Given the description of an element on the screen output the (x, y) to click on. 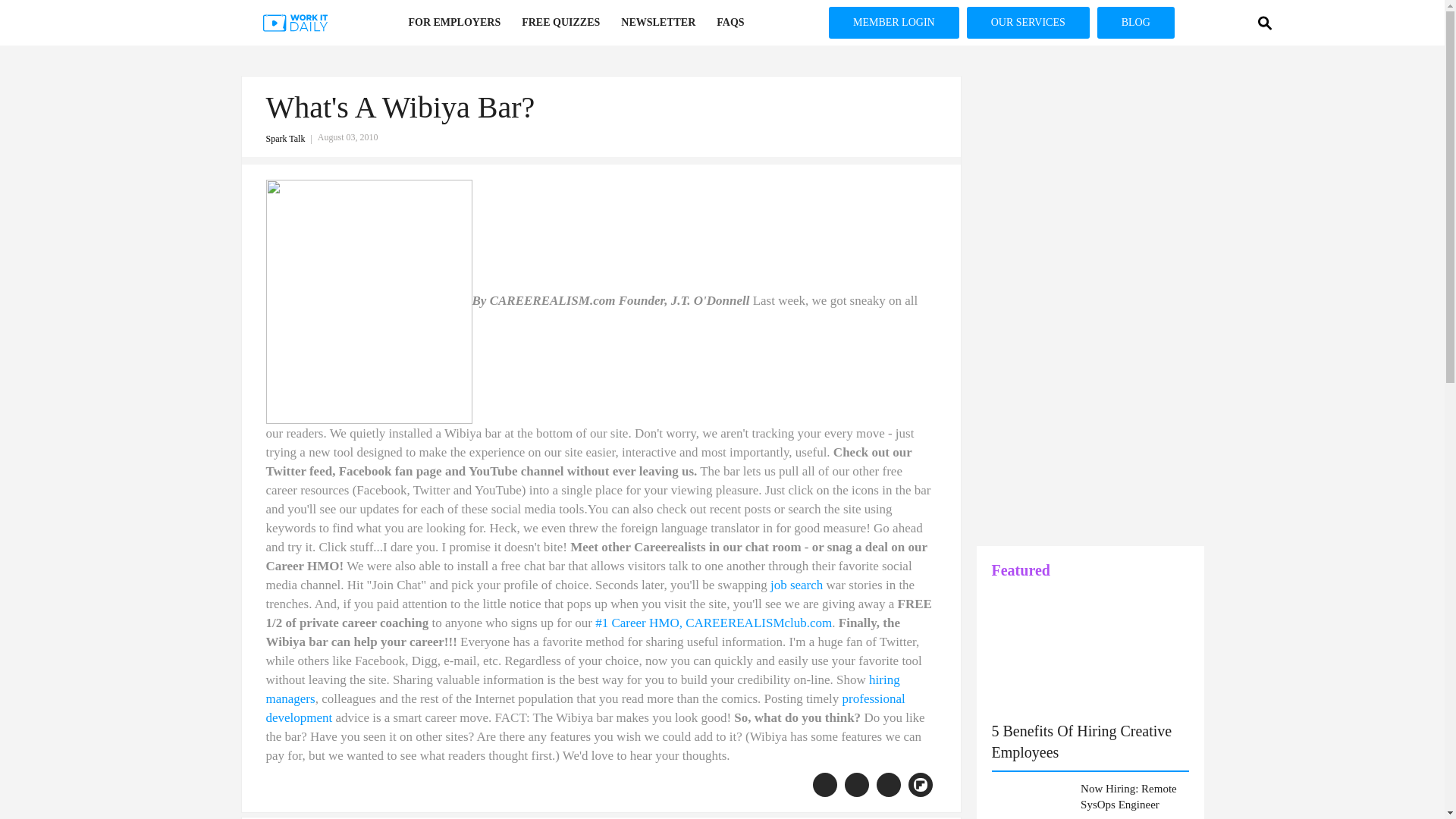
MEMBER LOGIN (893, 22)
FOR EMPLOYERS (454, 22)
NEWSLETTER (658, 22)
FAQS (730, 22)
FREE QUIZZES (560, 22)
5 Benefits Of Hiring Creative Employees (1081, 741)
hiring managers (581, 688)
professional development (584, 707)
Spark Talk (290, 138)
OUR SERVICES (1027, 22)
BLOG (1135, 22)
job search (796, 585)
Now Hiring: Remote SysOps Engineer (1134, 797)
